Given the description of an element on the screen output the (x, y) to click on. 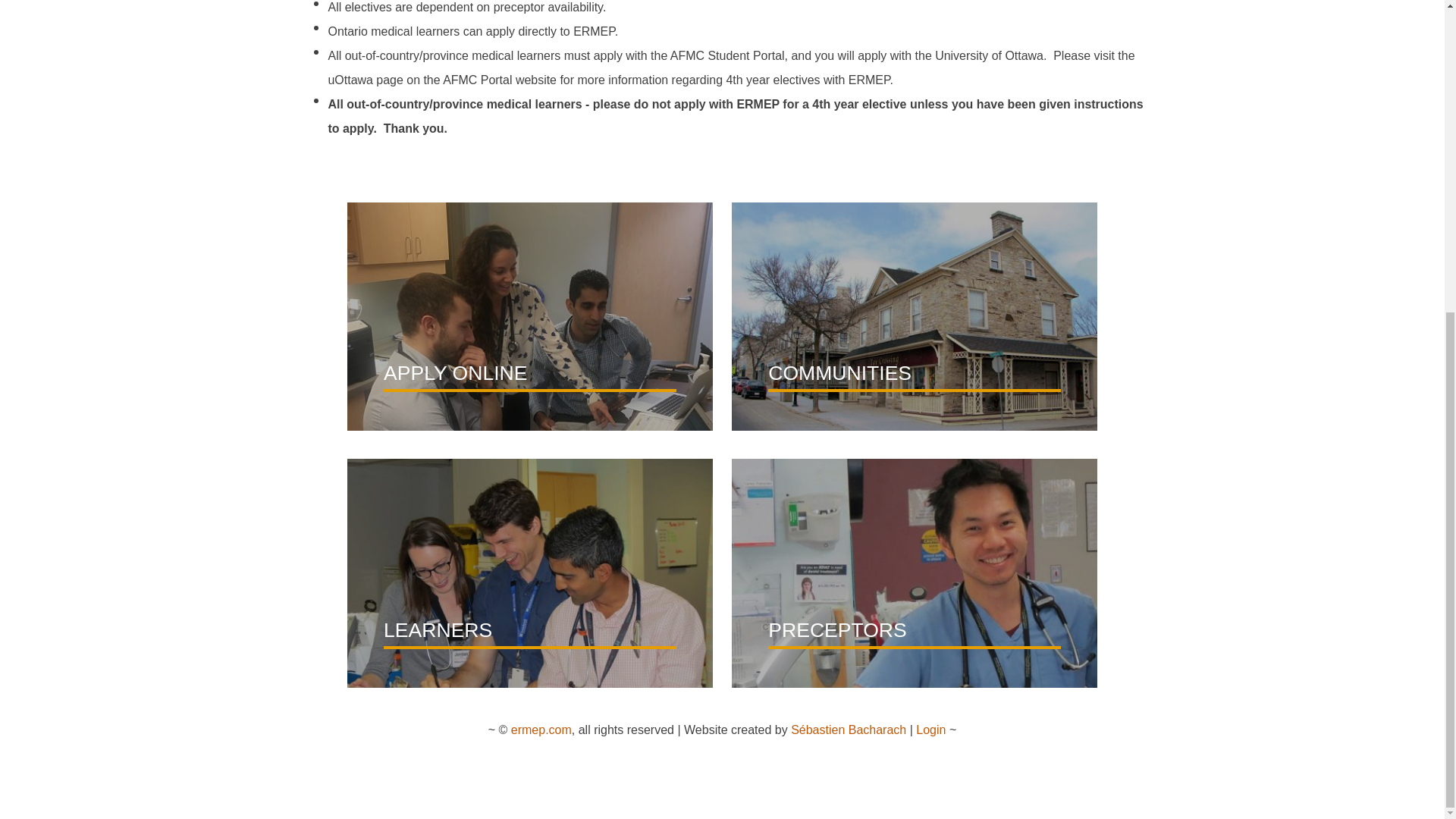
ermep.com (541, 729)
APPLY ONLINE (530, 490)
COMMUNITIES (914, 490)
Login (929, 729)
